Given the description of an element on the screen output the (x, y) to click on. 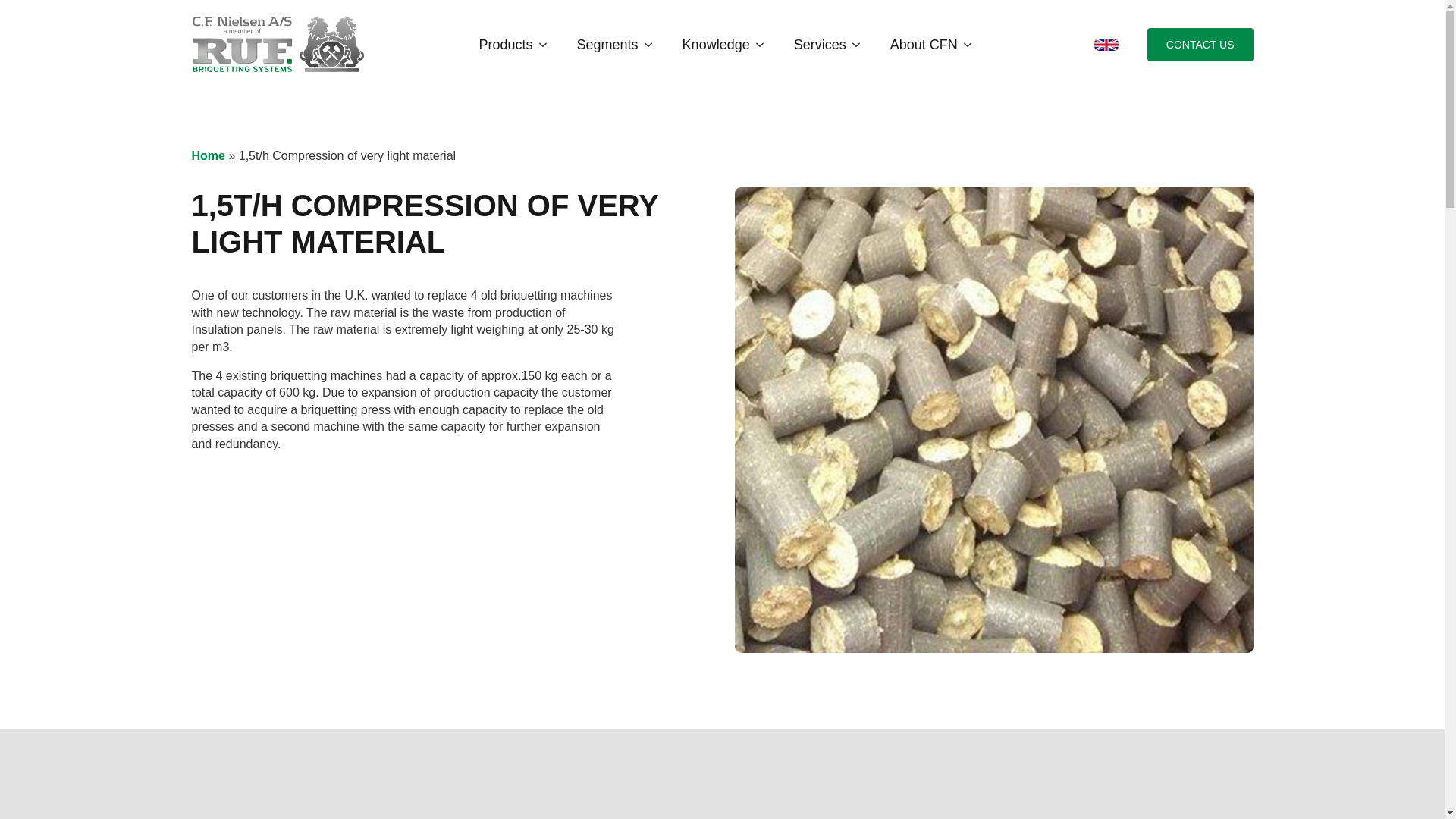
Knowledge (707, 44)
Products (498, 44)
Segments (600, 44)
Services (811, 44)
About CFN (916, 44)
